Given the description of an element on the screen output the (x, y) to click on. 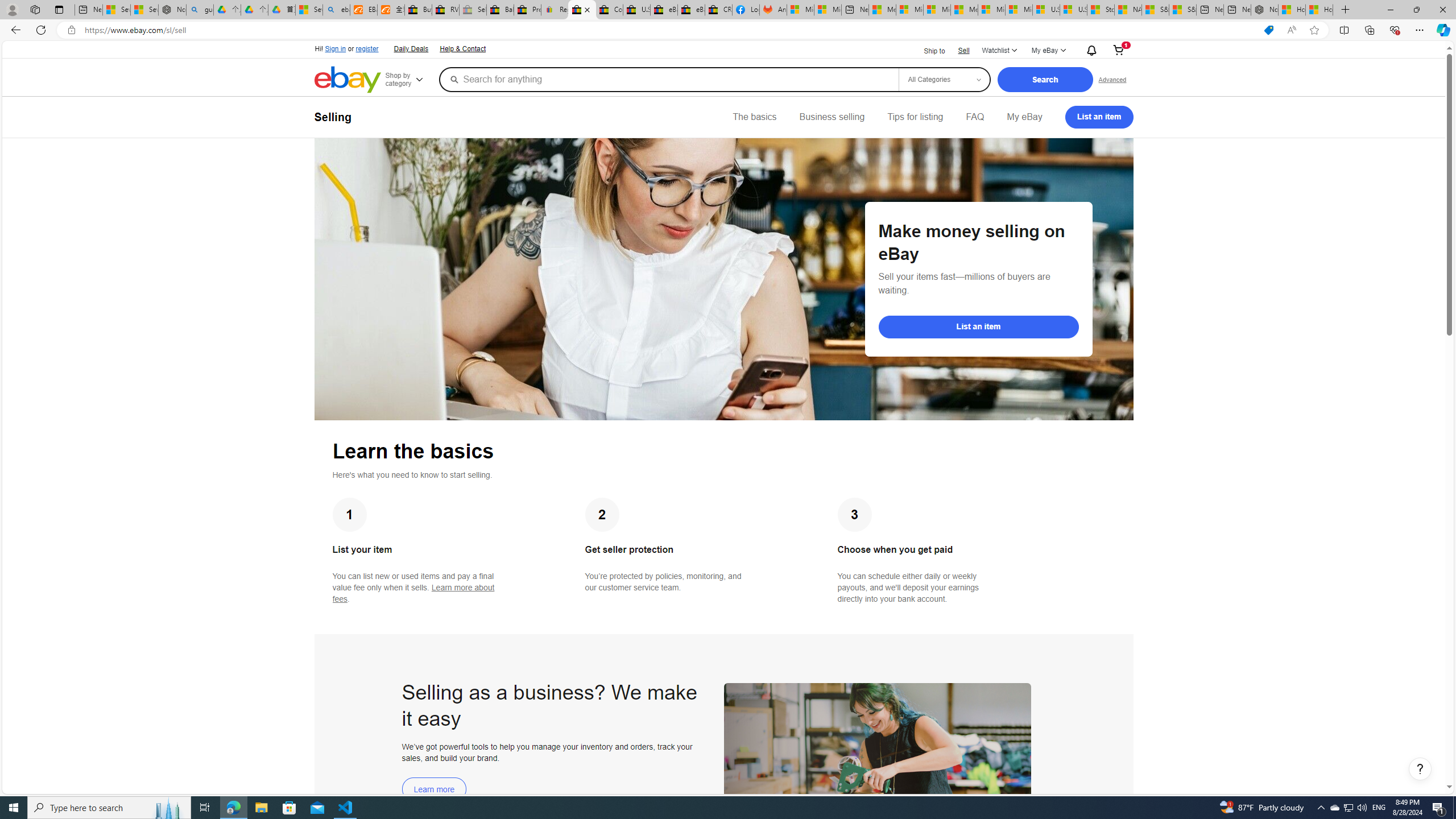
Select a category for search (944, 78)
This site has coupons! Shopping in Microsoft Edge (1268, 29)
Ship to (927, 49)
Tips for listing (914, 116)
AutomationID: gh-eb-Alerts (1090, 49)
U.S. State Privacy Disclosures - eBay Inc. (636, 9)
eBay Home (347, 79)
My eBay (1024, 116)
eBay Inc. Reports Third Quarter 2023 Results (691, 9)
The basics (754, 116)
My eBay (1024, 116)
